Given the description of an element on the screen output the (x, y) to click on. 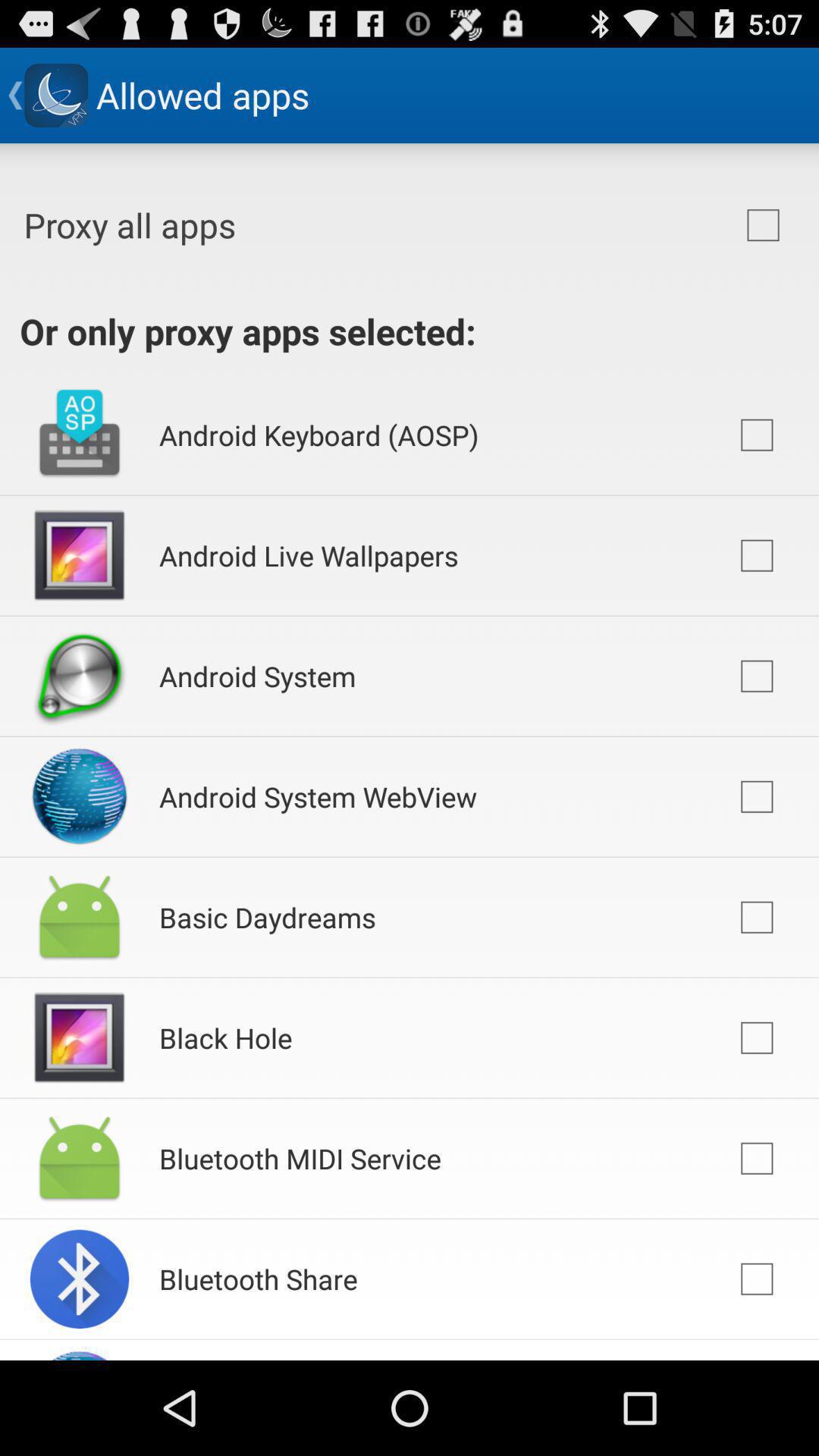
select the bluetooth share icon (258, 1278)
